Given the description of an element on the screen output the (x, y) to click on. 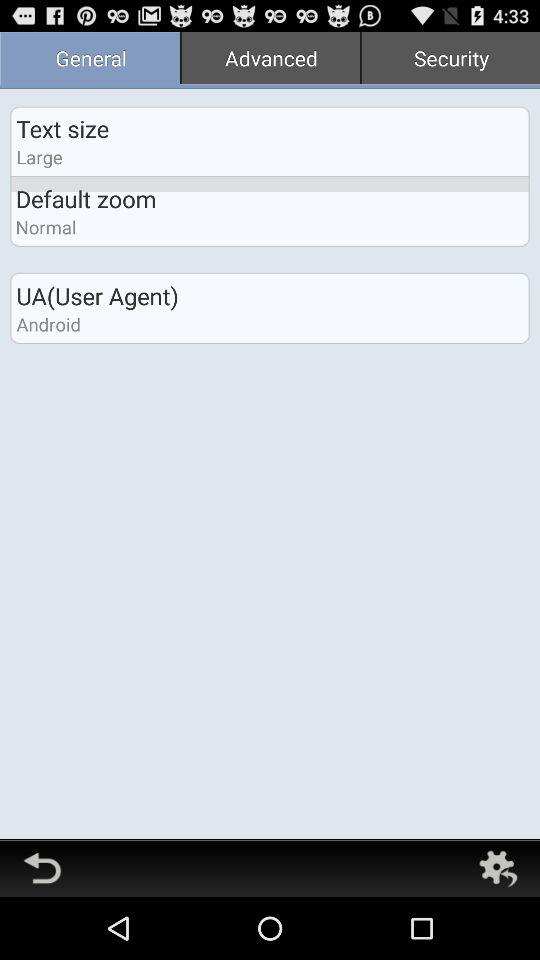
choose the icon below the default zoom app (45, 226)
